Given the description of an element on the screen output the (x, y) to click on. 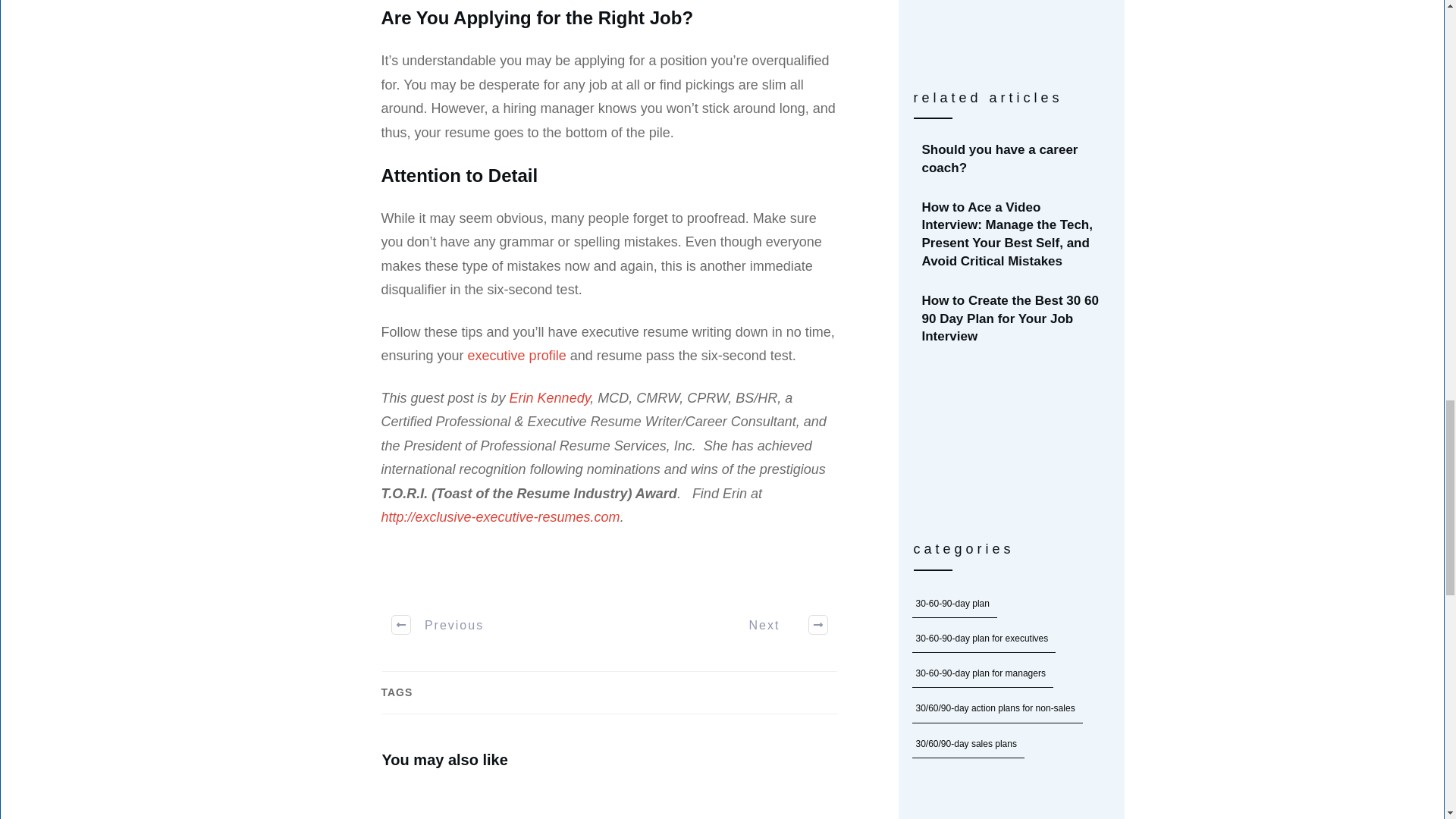
Should you have a career coach? (999, 158)
